Given the description of an element on the screen output the (x, y) to click on. 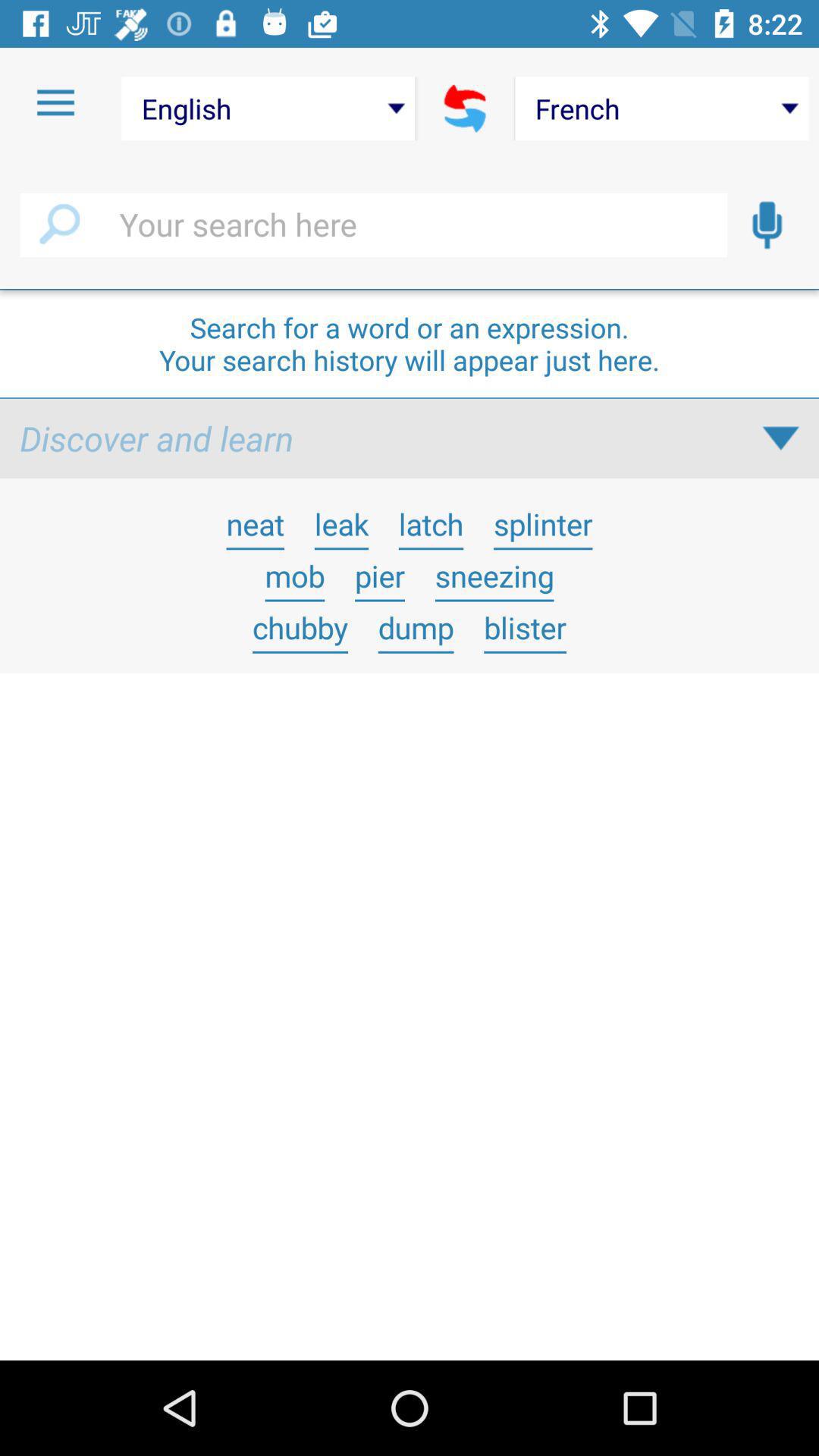
click the icon next to latch icon (542, 523)
